Given the description of an element on the screen output the (x, y) to click on. 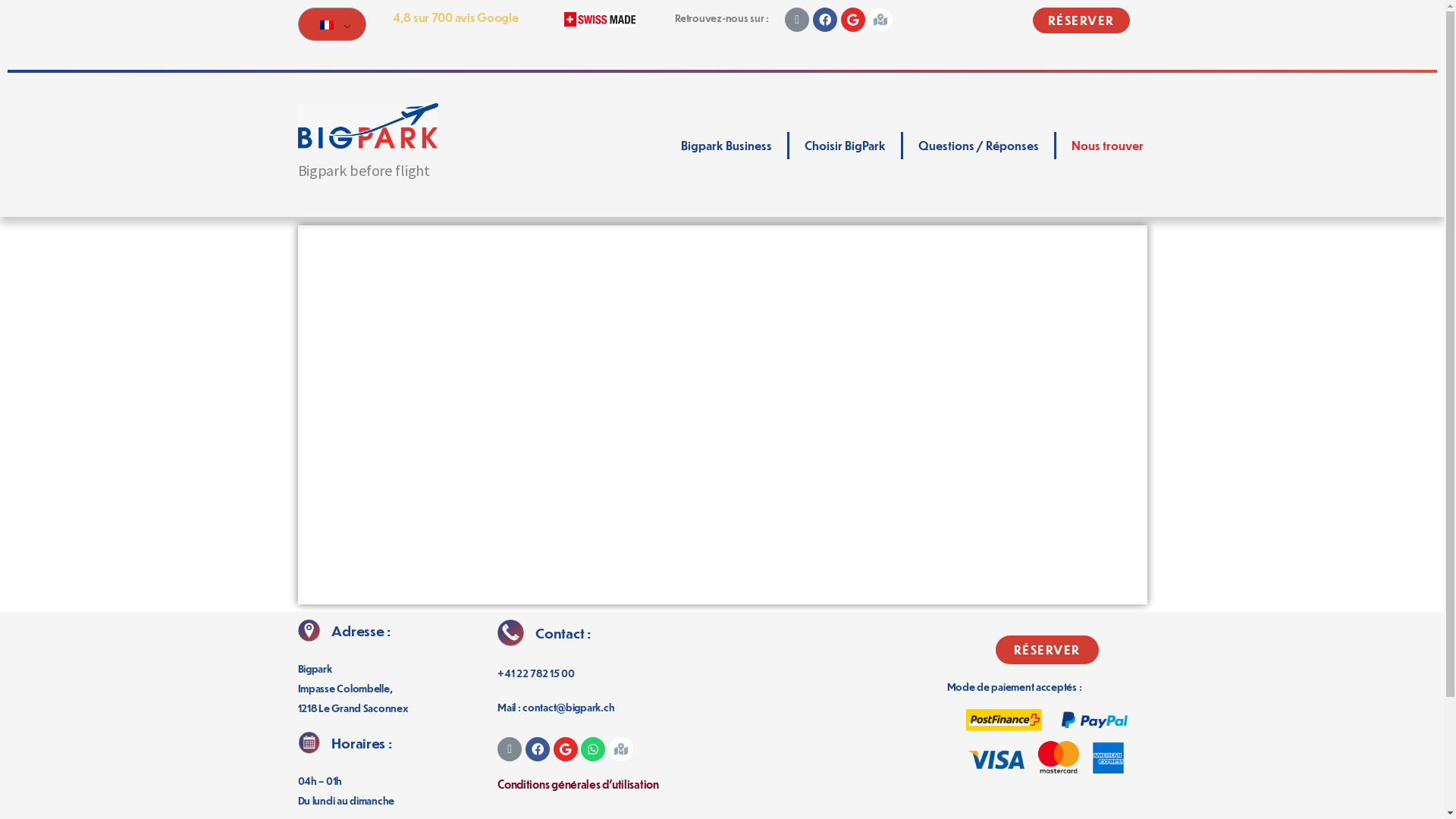
French Element type: hover (326, 24)
%3$s Element type: hover (721, 414)
4,8 sur 700 avis Google Element type: text (455, 16)
Choisir BigPark Element type: text (844, 145)
contact@bigpark.ch Element type: text (568, 706)
Nous trouver Element type: text (1107, 145)
French Element type: hover (328, 24)
+41 22 782 15 00 Element type: text (535, 671)
Bigpark Business Element type: text (726, 145)
